Given the description of an element on the screen output the (x, y) to click on. 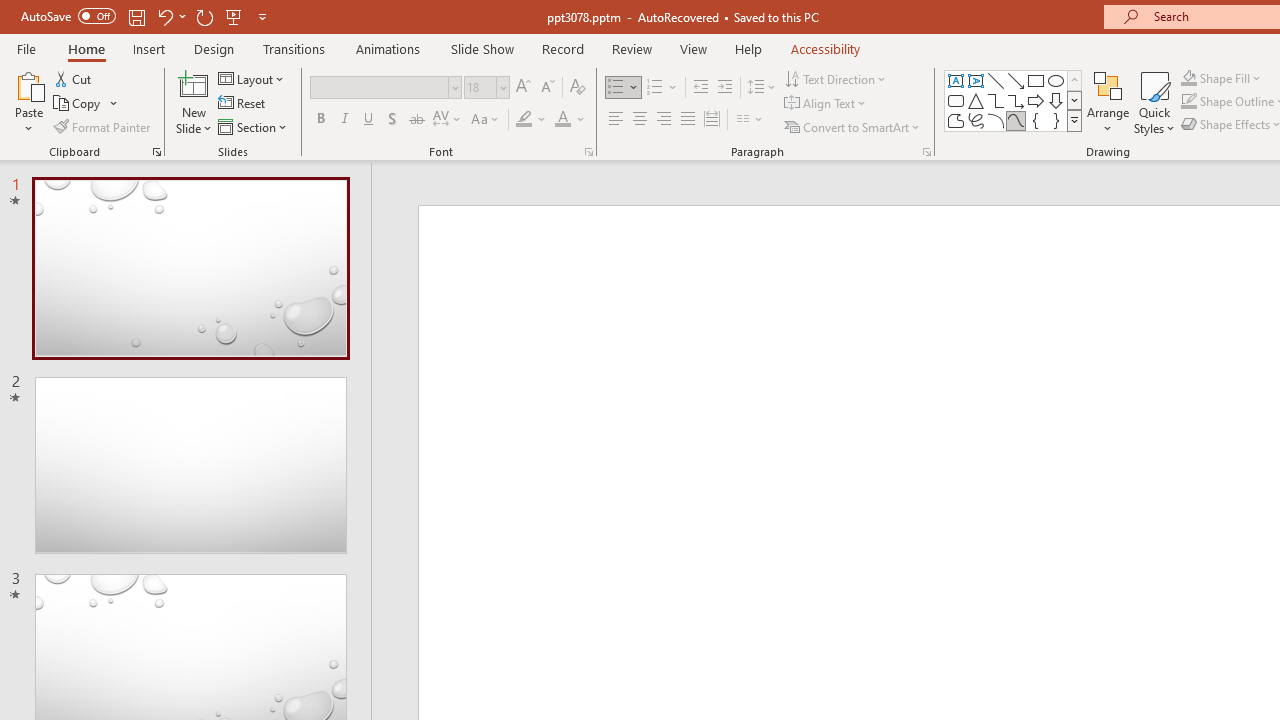
Address Block... (757, 161)
Select Recipients (423, 161)
Undo Number Default (280, 31)
Repeat Doc Close (341, 31)
Preview Results (1202, 161)
Insert Merge Field (927, 136)
